Given the description of an element on the screen output the (x, y) to click on. 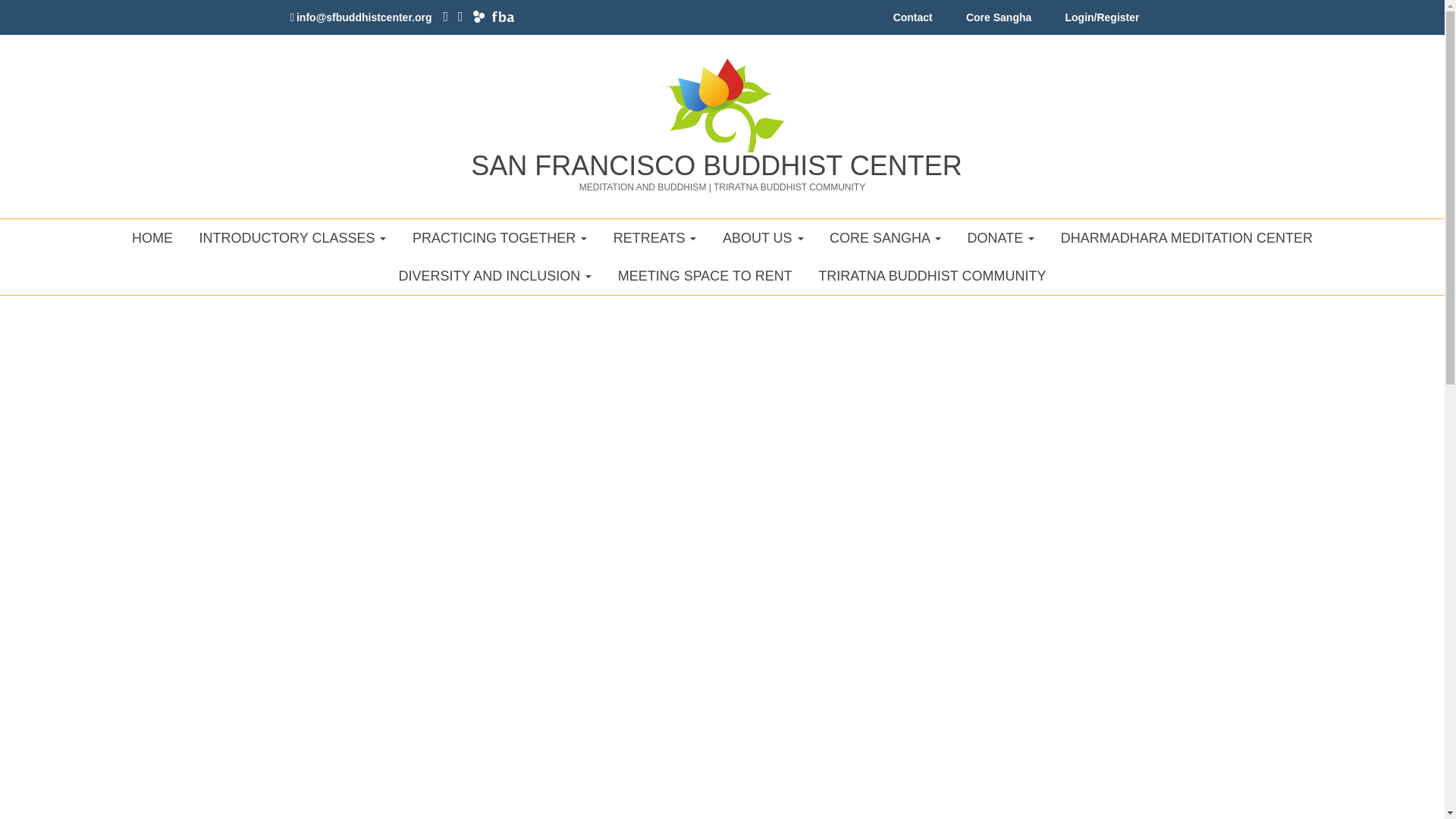
Home (721, 97)
SFBC Community and Practice (499, 238)
PRACTICING TOGETHER (499, 238)
Meeting space (705, 275)
SAN FRANCISCO BUDDHIST CENTER (715, 164)
RETREATS (654, 238)
San Francisco Buddhist Center at freebuddhistaudio.com (502, 17)
Contact (912, 22)
HOME (152, 238)
Home (715, 164)
INTRODUCTORY CLASSES (292, 238)
Core Sangha (998, 22)
CORE SANGHA (885, 238)
San Francisco Buddhist Center at thebuddhistcentre.com (478, 17)
